Given the description of an element on the screen output the (x, y) to click on. 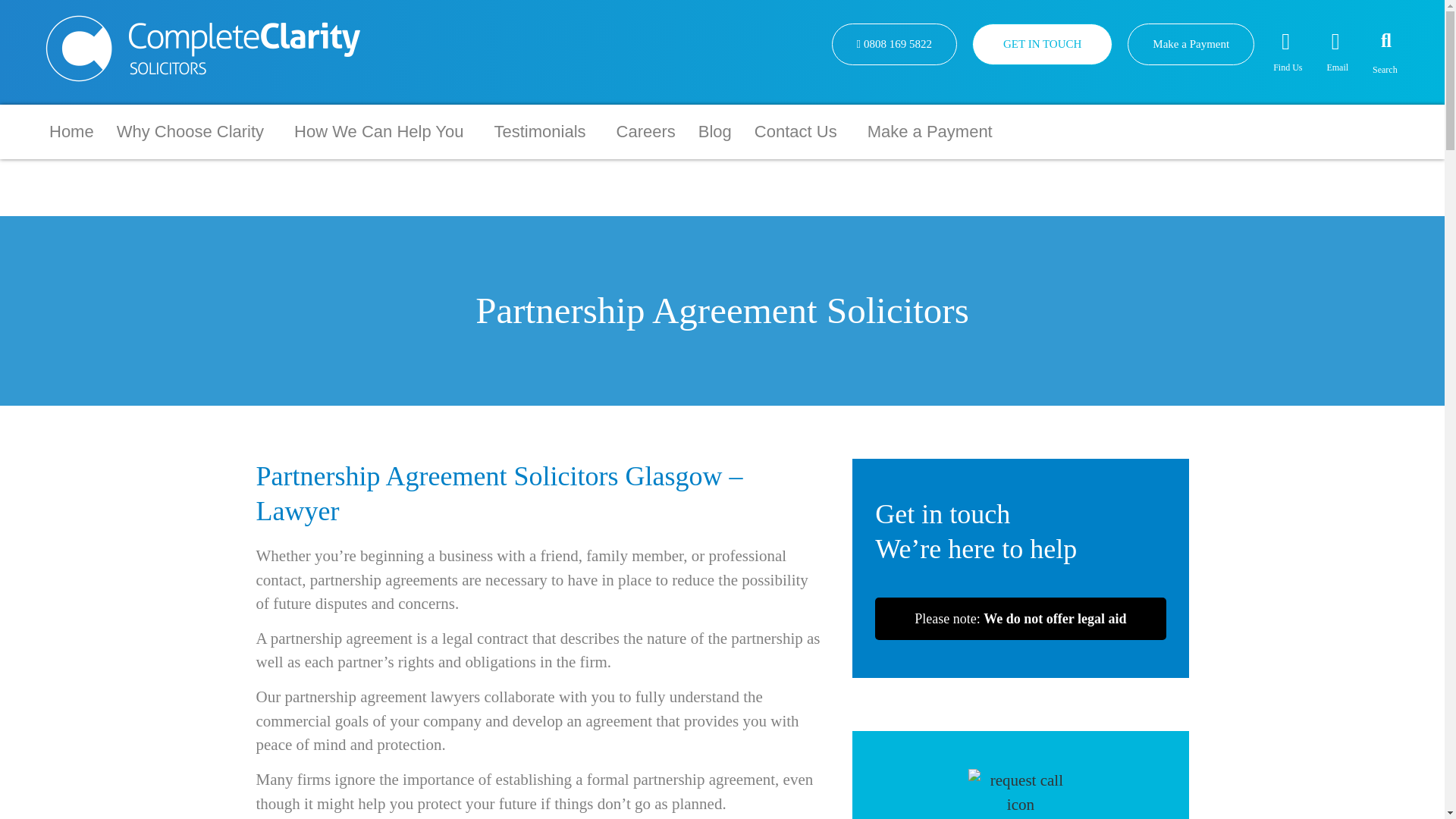
Why Choose Clarity (193, 131)
0808 169 5822 (893, 43)
How We Can Help You (381, 131)
Home (70, 131)
Make a Payment (1189, 43)
GET IN TOUCH (1042, 43)
